Given the description of an element on the screen output the (x, y) to click on. 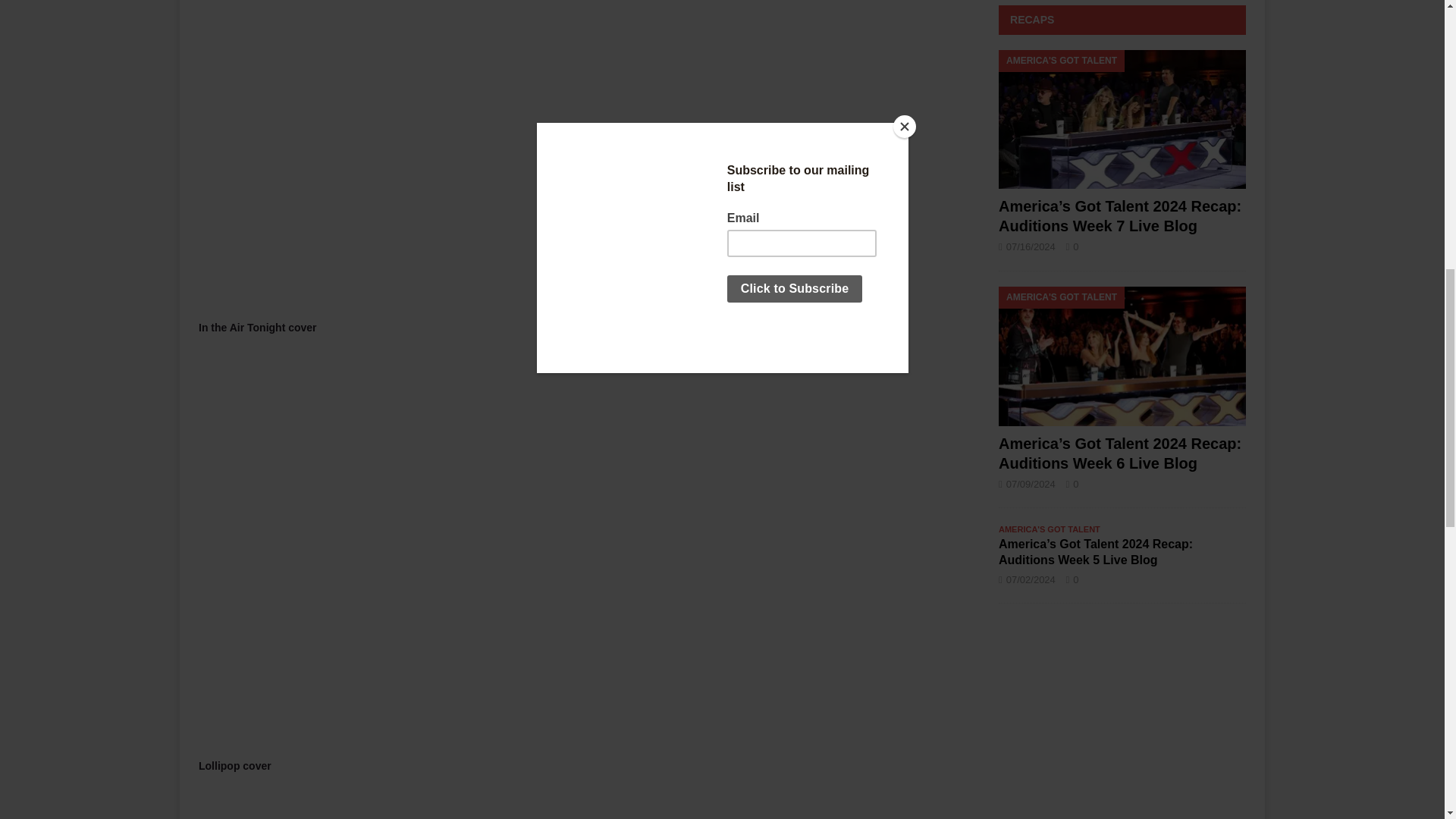
Phillip Phillips-Lollipop mix (455, 804)
